Given the description of an element on the screen output the (x, y) to click on. 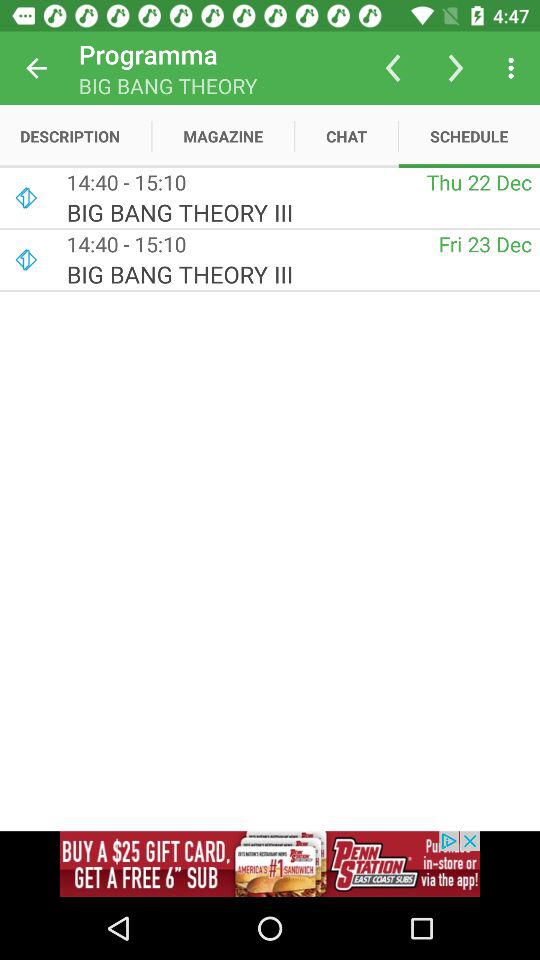
open advertisement (270, 864)
